Given the description of an element on the screen output the (x, y) to click on. 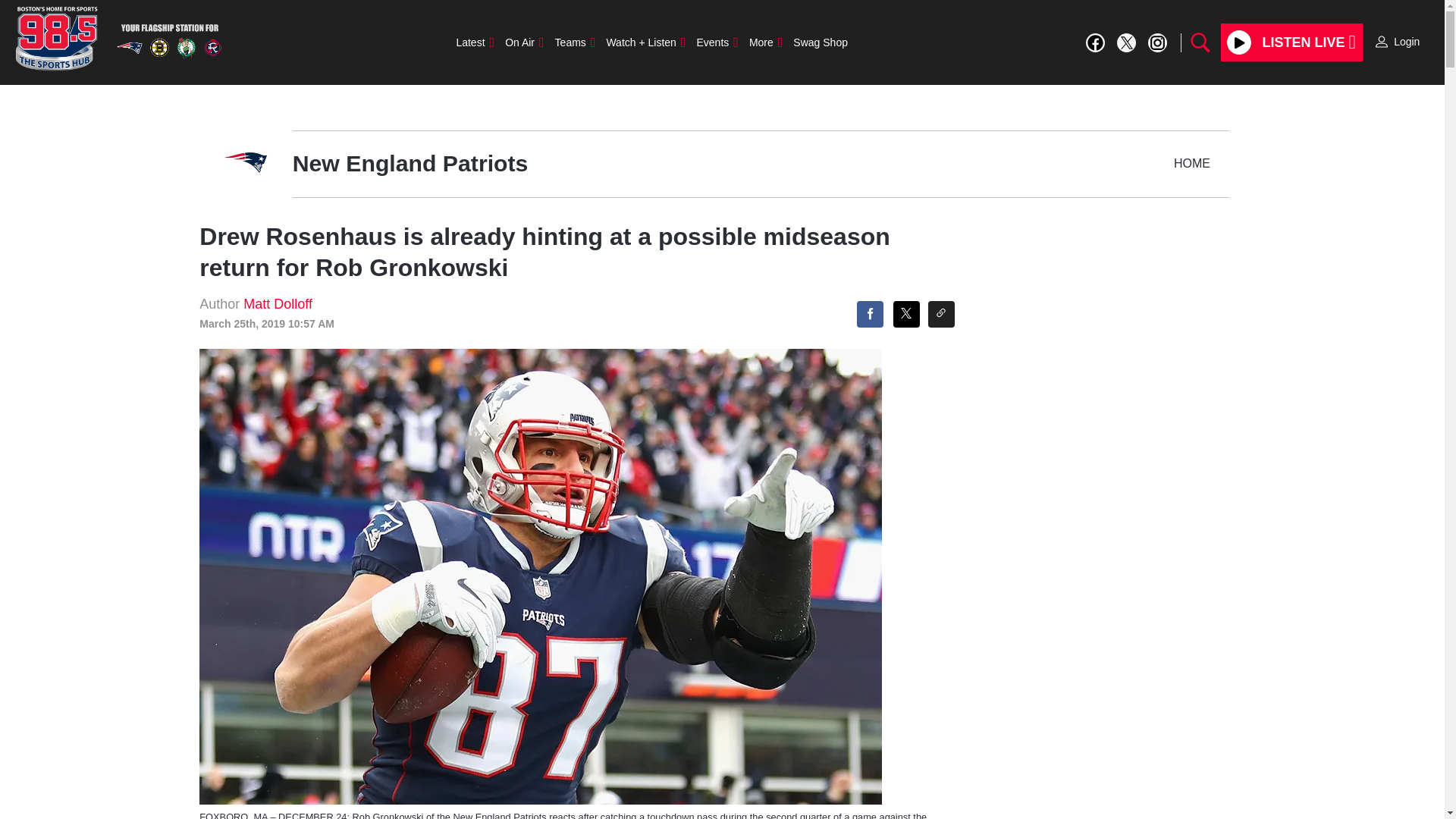
Matt Dolloff (278, 304)
Latest (474, 42)
Teams (575, 42)
On Air (523, 42)
